Given the description of an element on the screen output the (x, y) to click on. 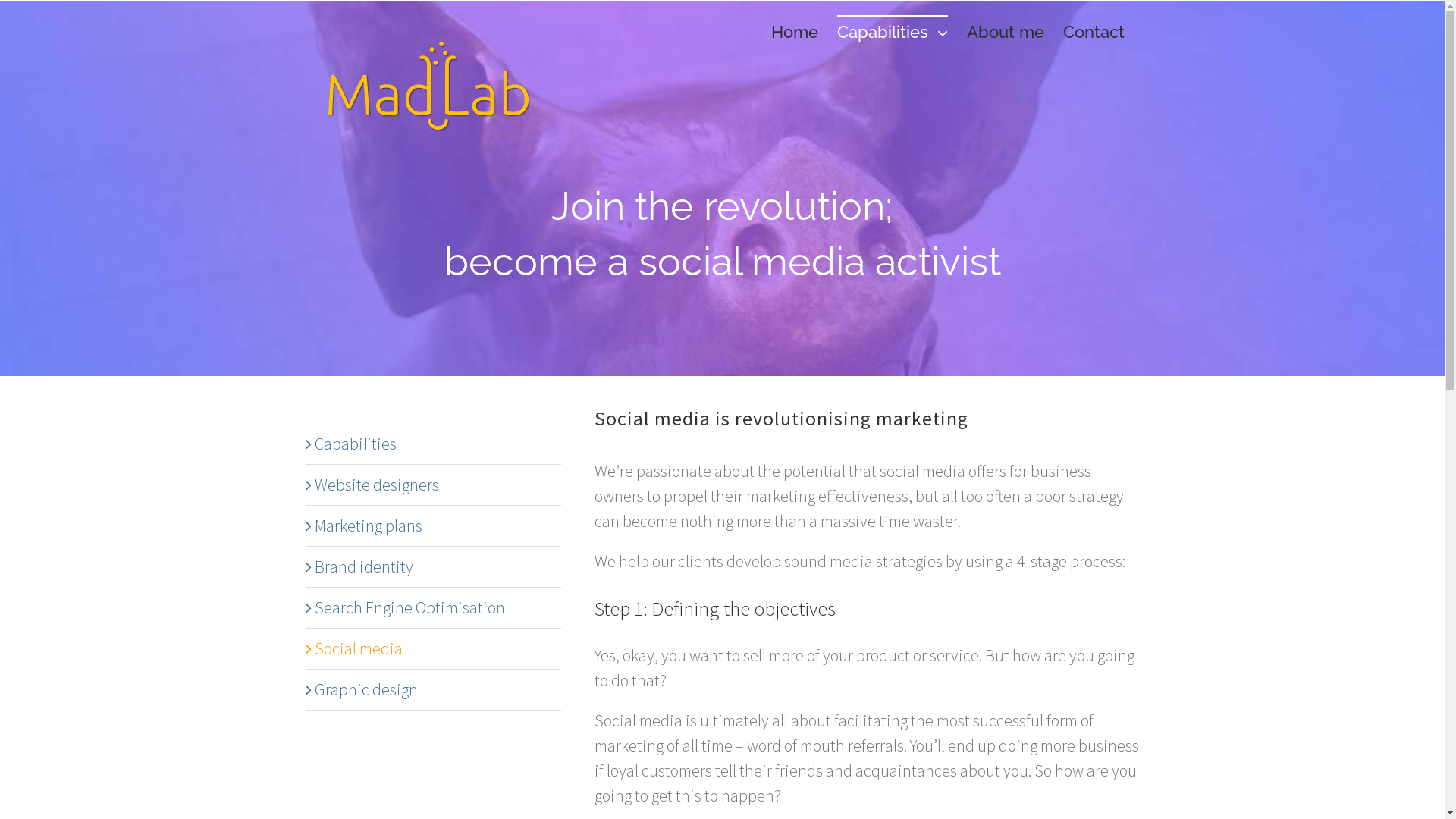
Brand identity Element type: text (362, 566)
Contact Element type: text (1093, 31)
Social media Element type: text (357, 647)
About me Element type: text (1004, 31)
Capabilities Element type: text (354, 443)
Home Element type: text (793, 31)
Marketing plans Element type: text (367, 525)
Capabilities Element type: text (892, 31)
Website designers Element type: text (375, 484)
Search Engine Optimisation Element type: text (408, 607)
Graphic design Element type: text (365, 688)
